Given the description of an element on the screen output the (x, y) to click on. 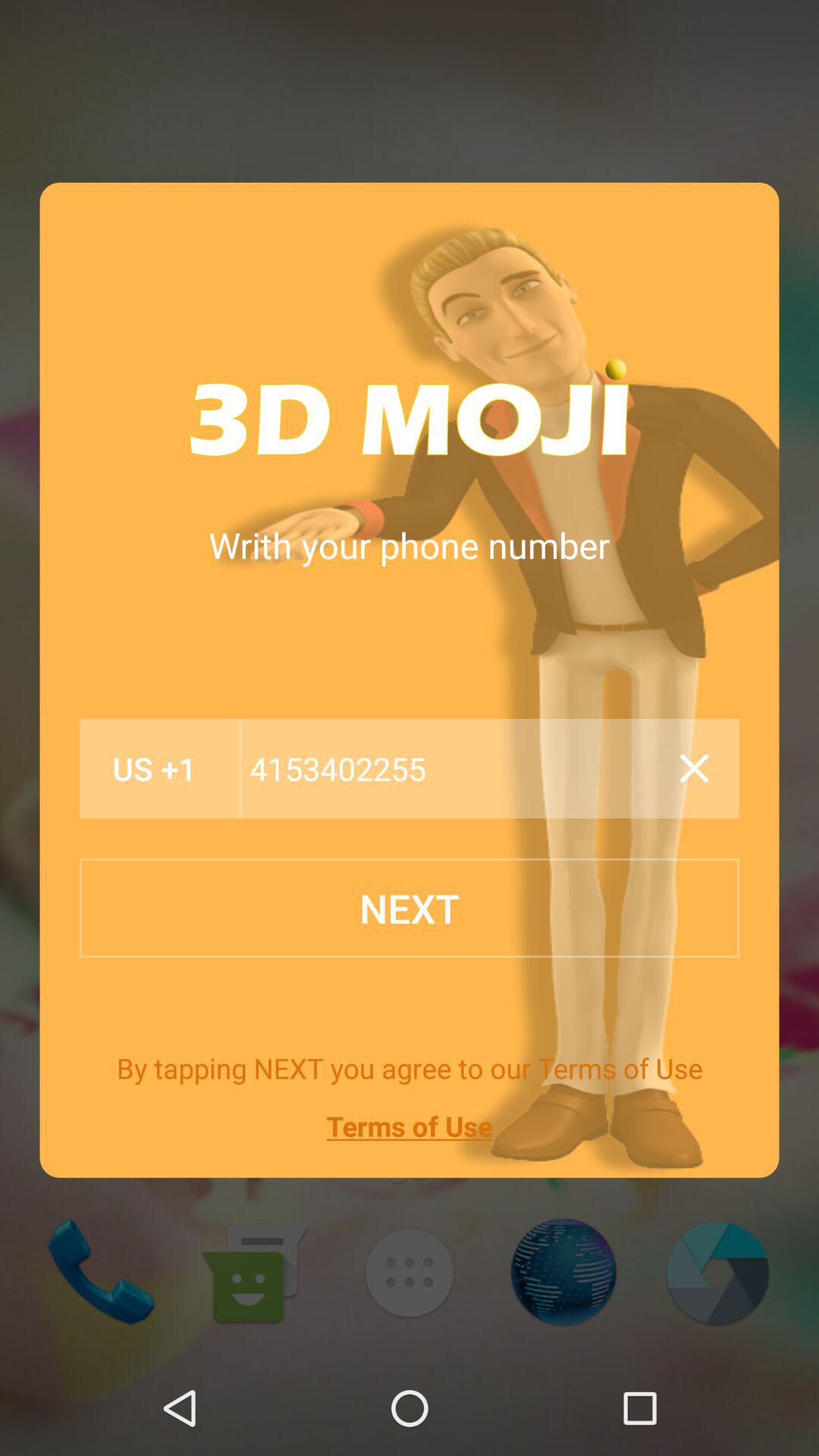
tap the us +1 button (154, 768)
